Given the description of an element on the screen output the (x, y) to click on. 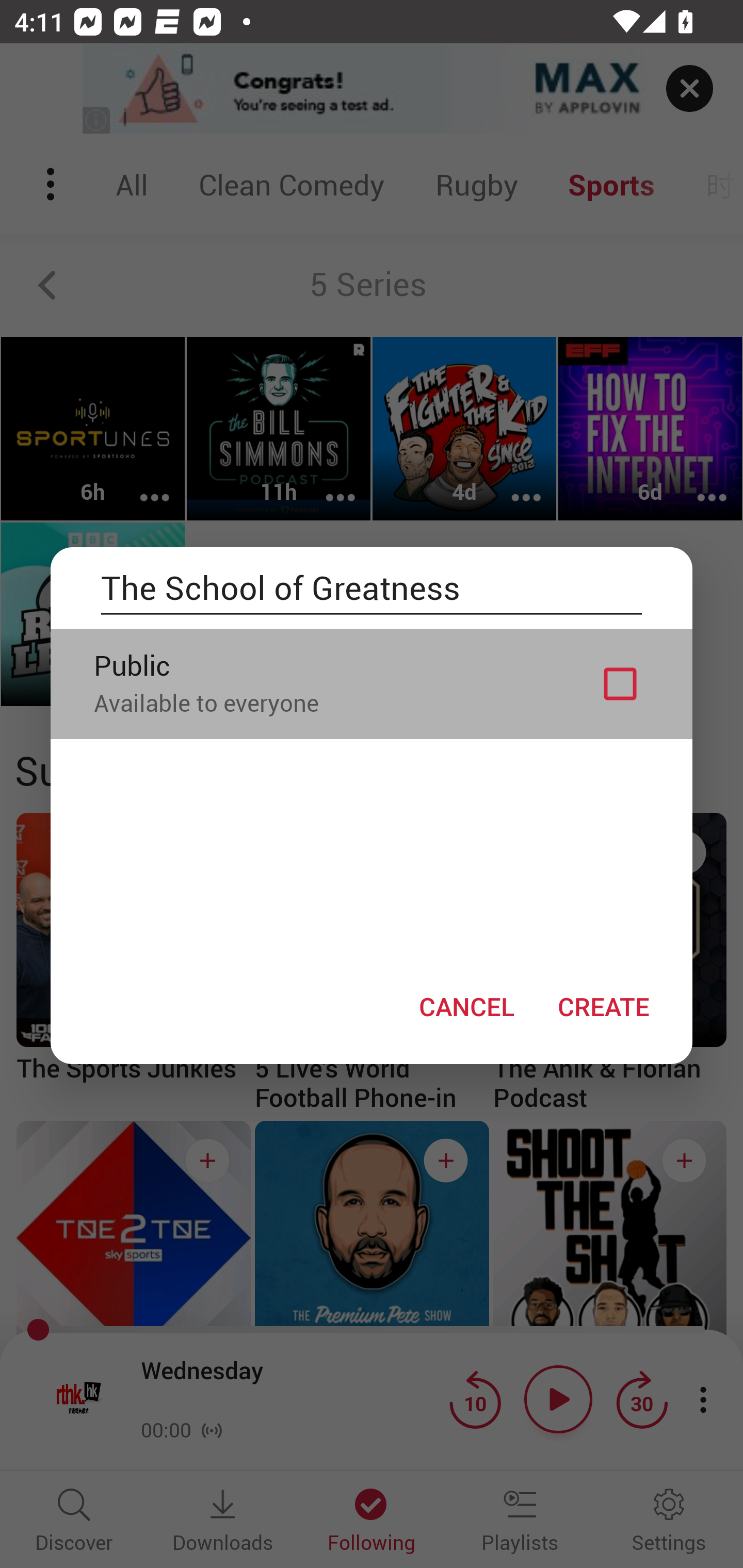
The School of Greatness (371, 587)
Public Available to everyone (371, 683)
CANCEL (465, 1005)
CREATE (602, 1005)
